Given the description of an element on the screen output the (x, y) to click on. 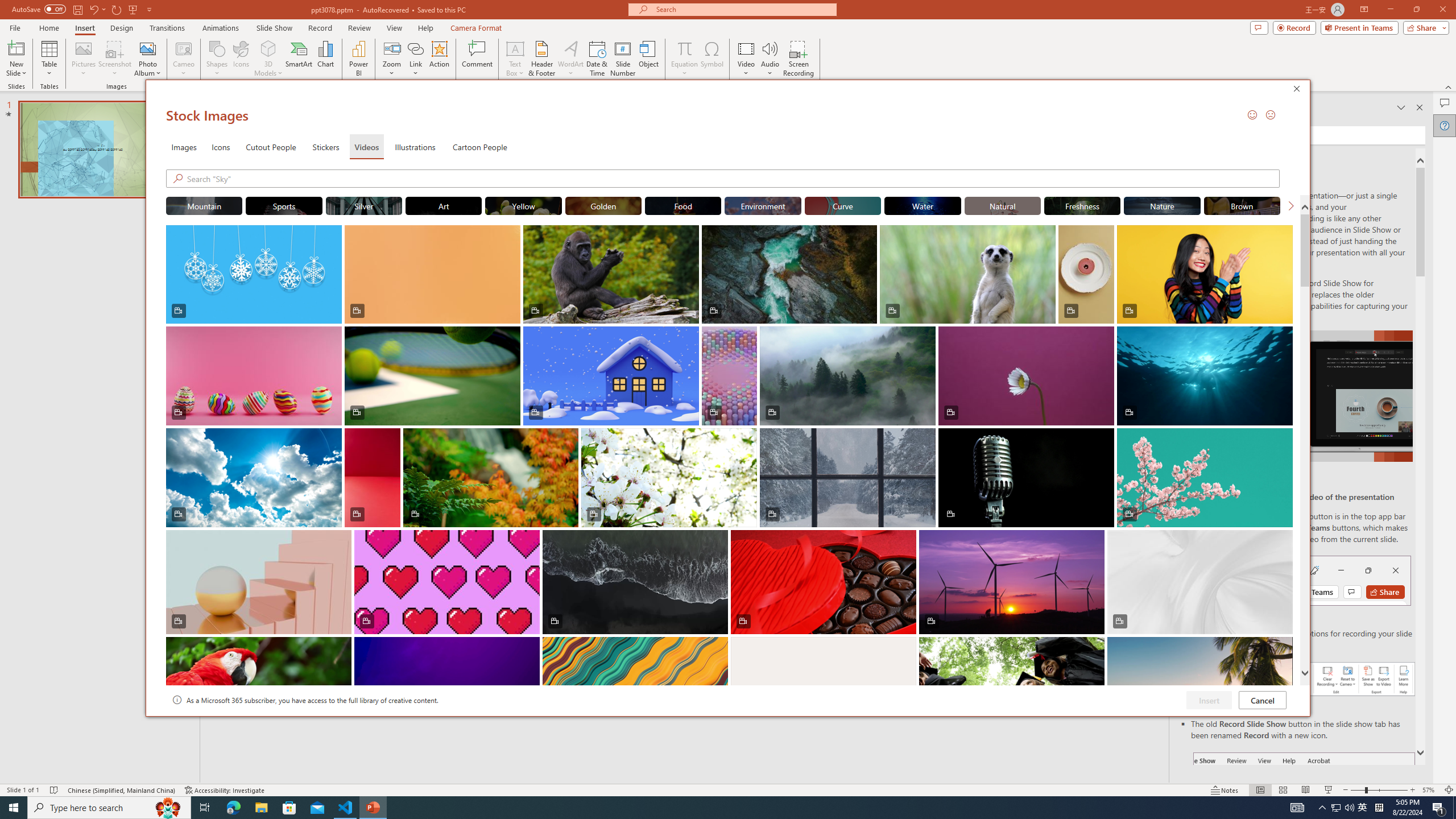
Action Center, 1 new notification (1439, 807)
